Given the description of an element on the screen output the (x, y) to click on. 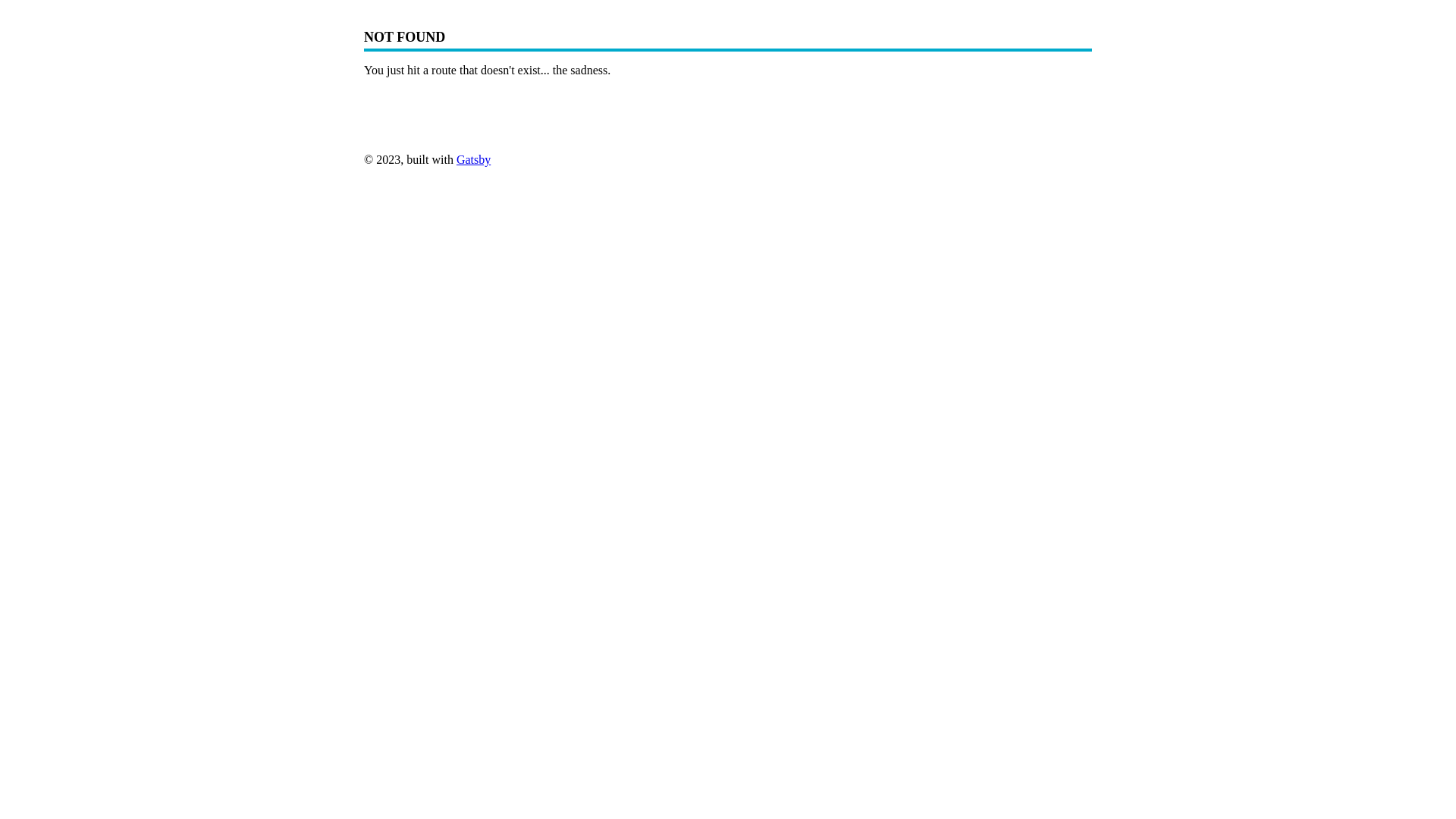
Gatsby Element type: text (473, 159)
